Given the description of an element on the screen output the (x, y) to click on. 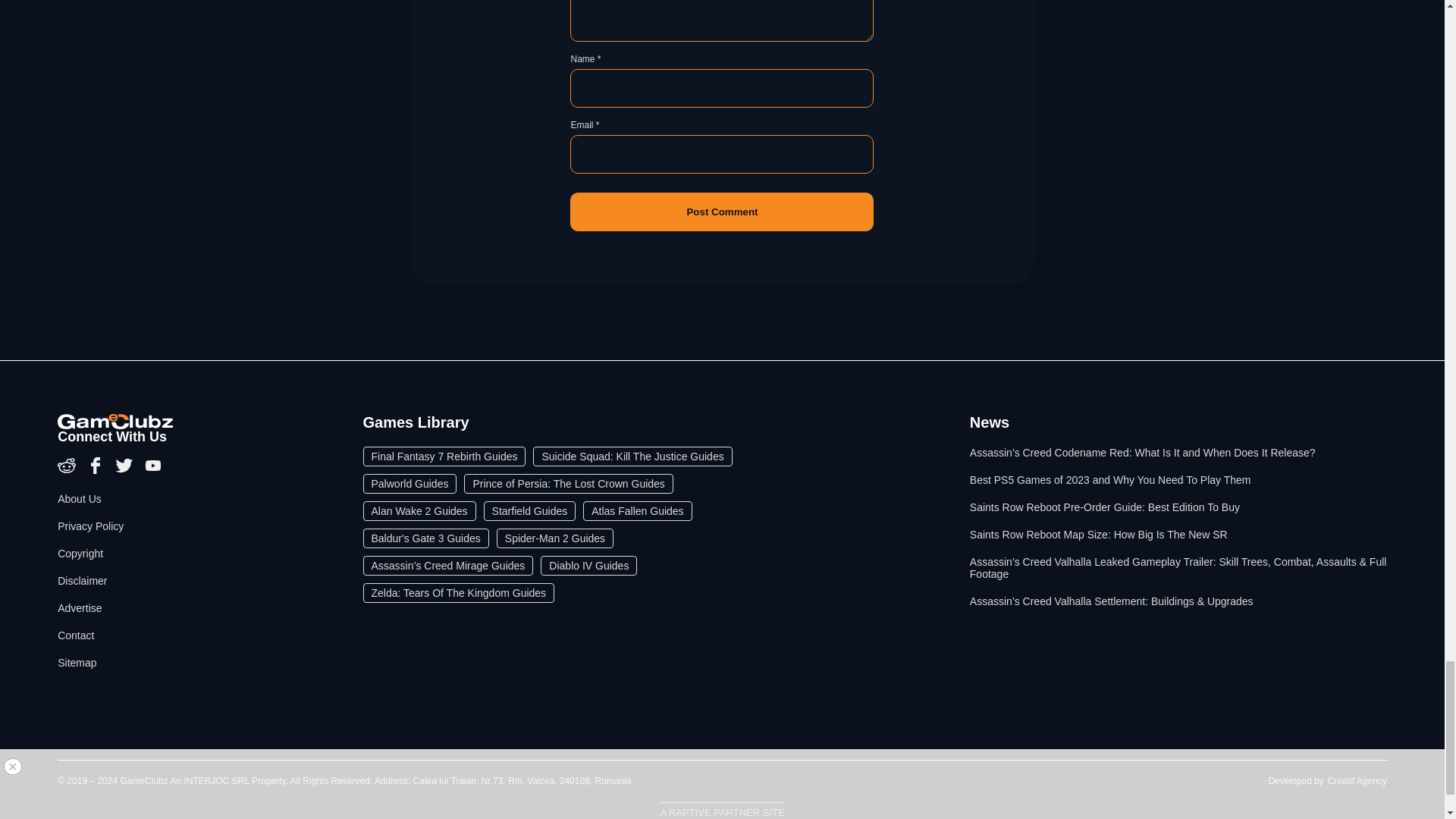
twitter (125, 470)
Post Comment (721, 211)
youtube (152, 470)
instagram (68, 470)
facebook (96, 470)
Creatif Agency web design (1357, 780)
